Given the description of an element on the screen output the (x, y) to click on. 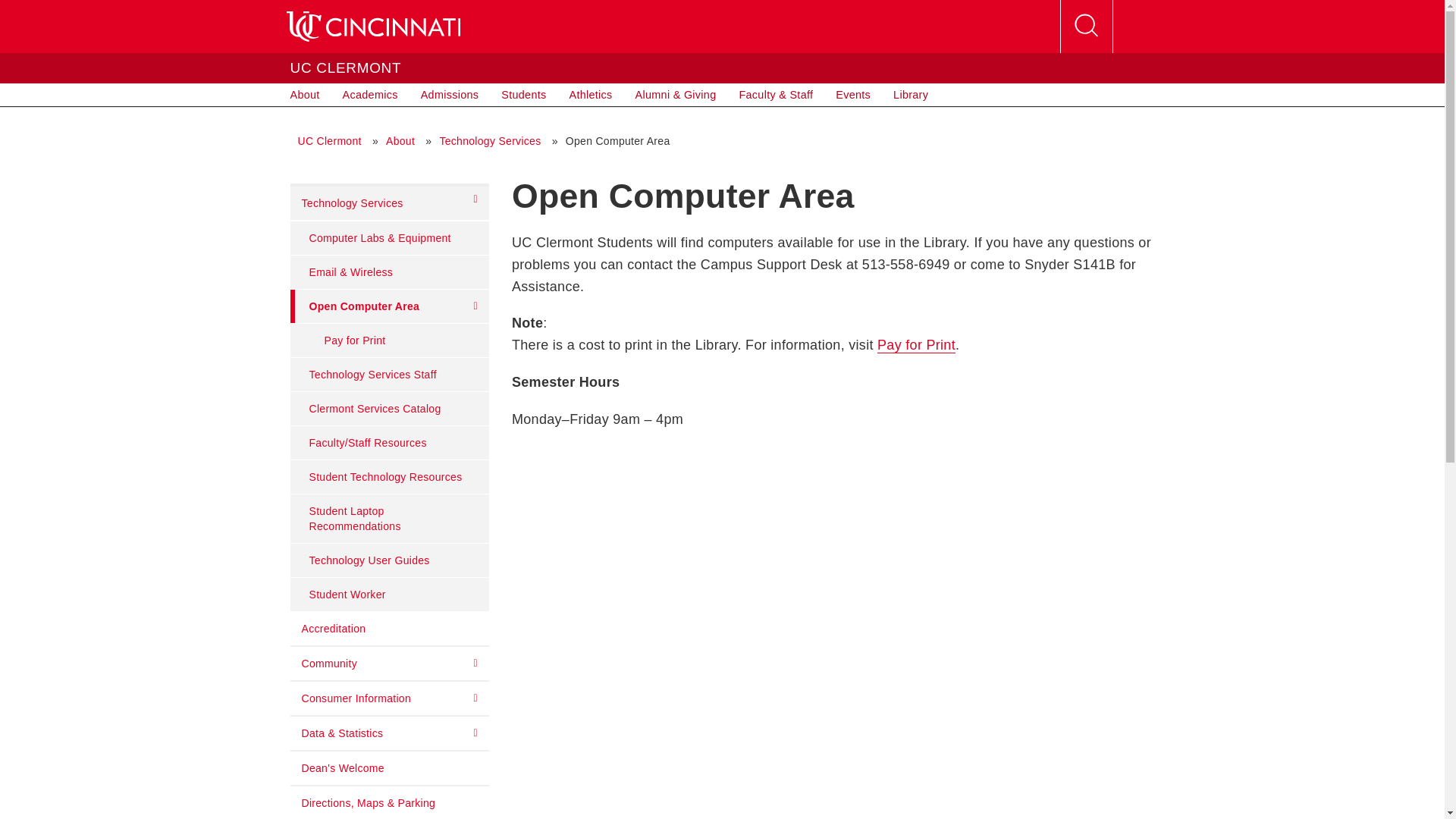
UC CLERMONT (345, 67)
magnifying glass (1085, 25)
About (305, 94)
magnifying glass (1086, 26)
